Given the description of an element on the screen output the (x, y) to click on. 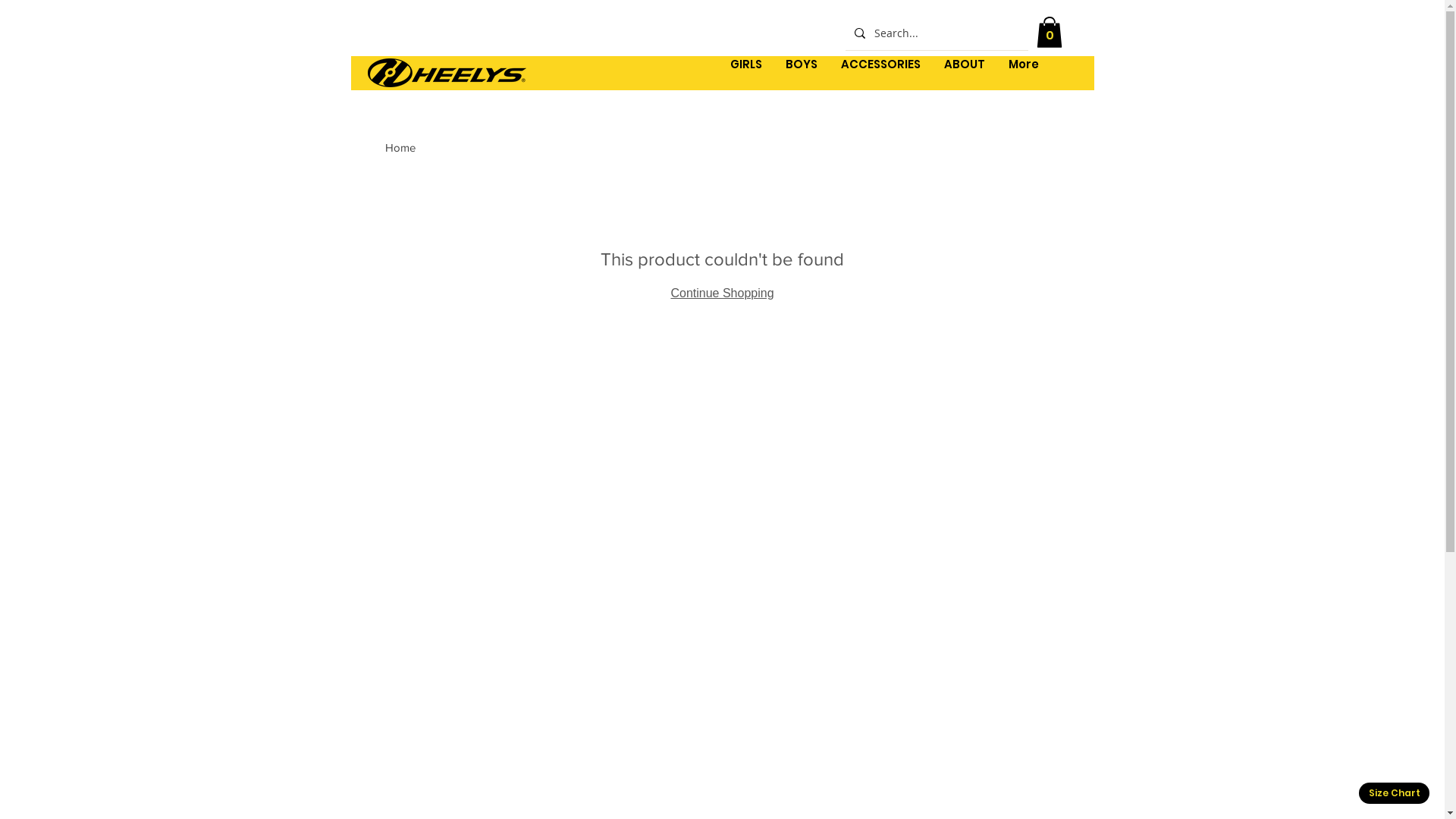
Continue Shopping Element type: text (721, 292)
BOYS Element type: text (800, 73)
Size Chart Element type: text (1393, 792)
ACCESSORIES Element type: text (879, 73)
0 Element type: text (1048, 31)
Home Element type: text (400, 147)
ABOUT Element type: text (963, 73)
GIRLS Element type: text (745, 73)
